Given the description of an element on the screen output the (x, y) to click on. 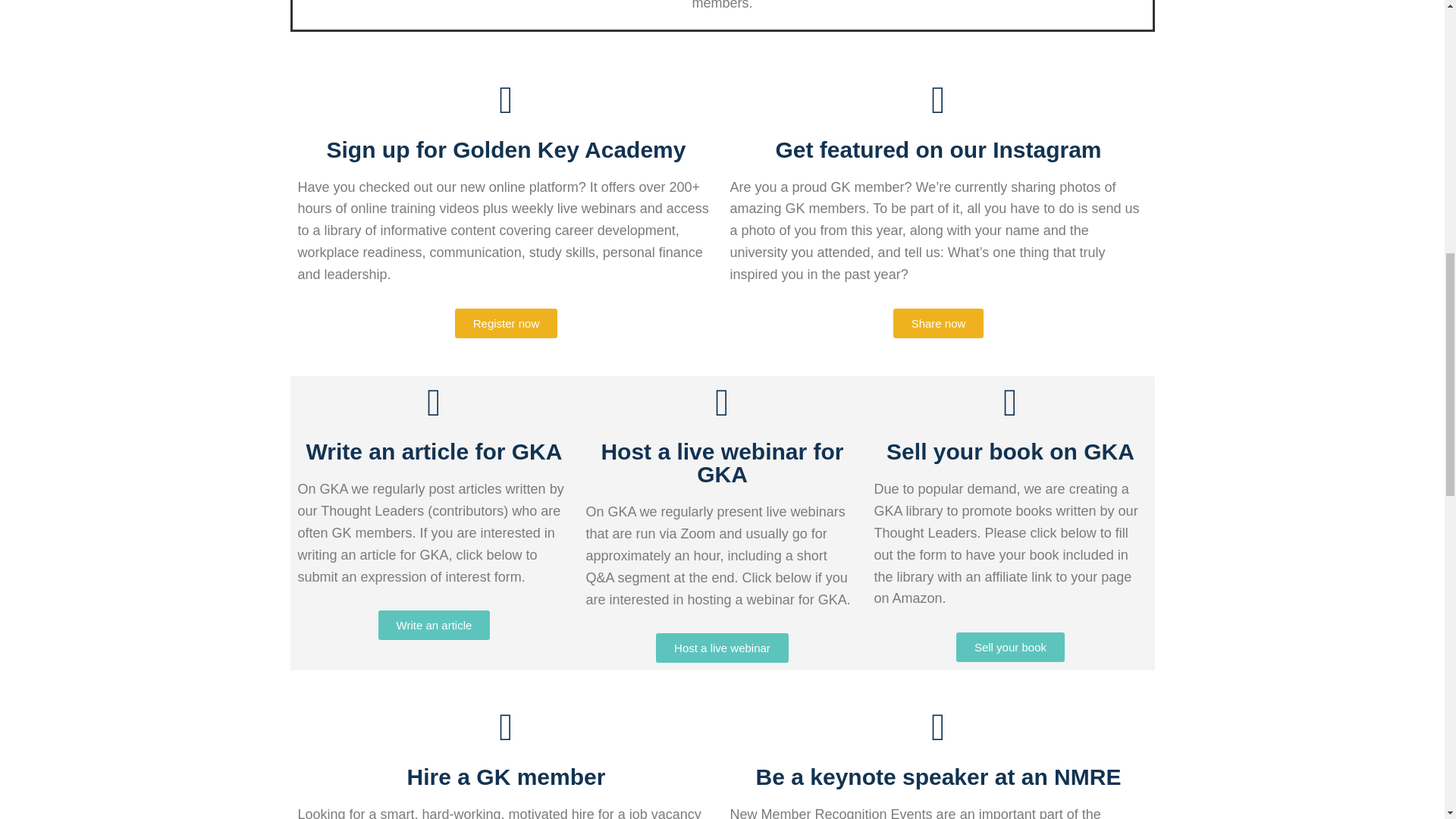
Share now (938, 322)
Write an article (434, 624)
Register now (505, 322)
Sell your book (1010, 646)
Host a live webinar (722, 647)
